Given the description of an element on the screen output the (x, y) to click on. 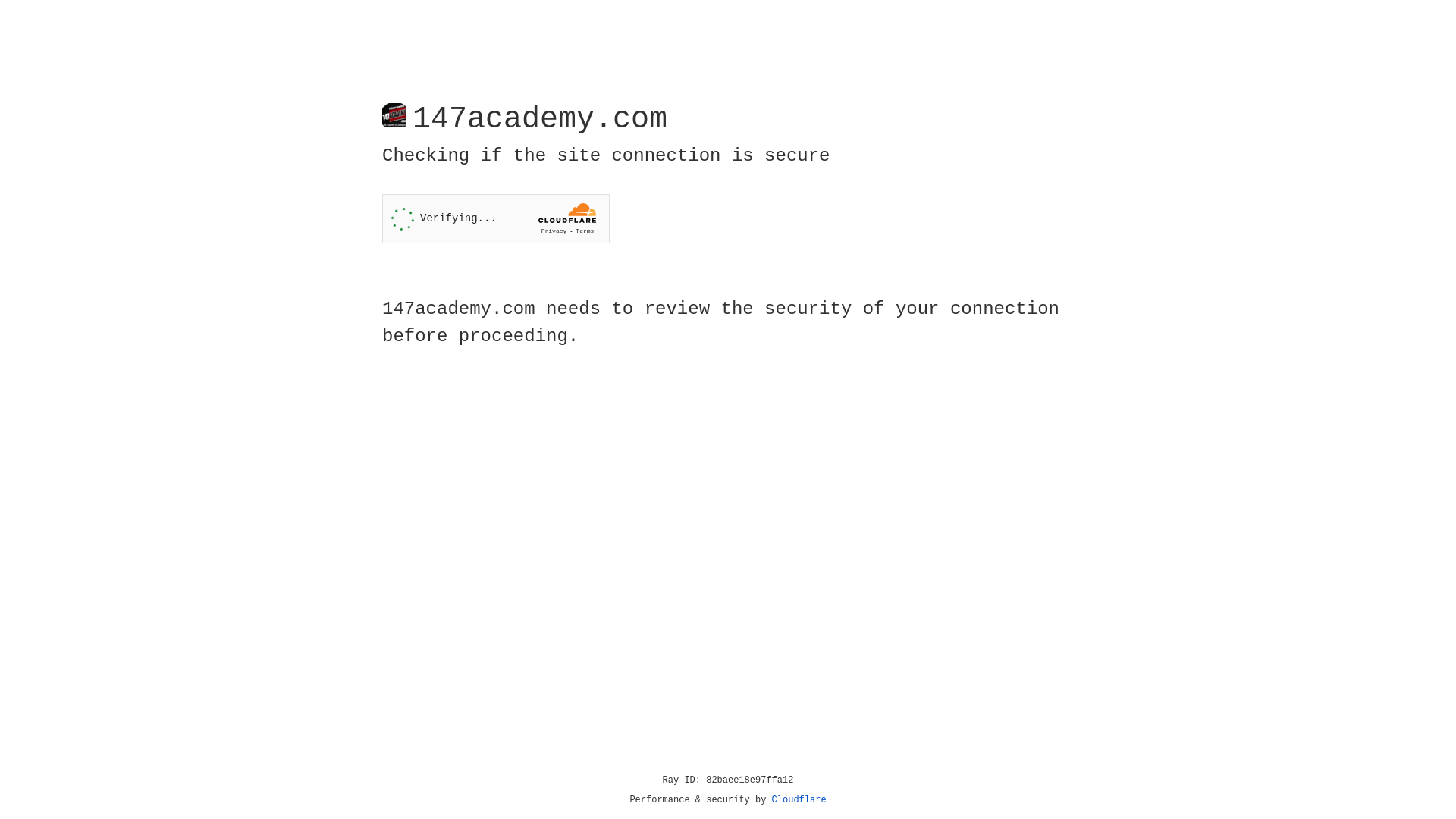
Widget containing a Cloudflare security challenge Element type: hover (495, 218)
Cloudflare Element type: text (798, 799)
